Given the description of an element on the screen output the (x, y) to click on. 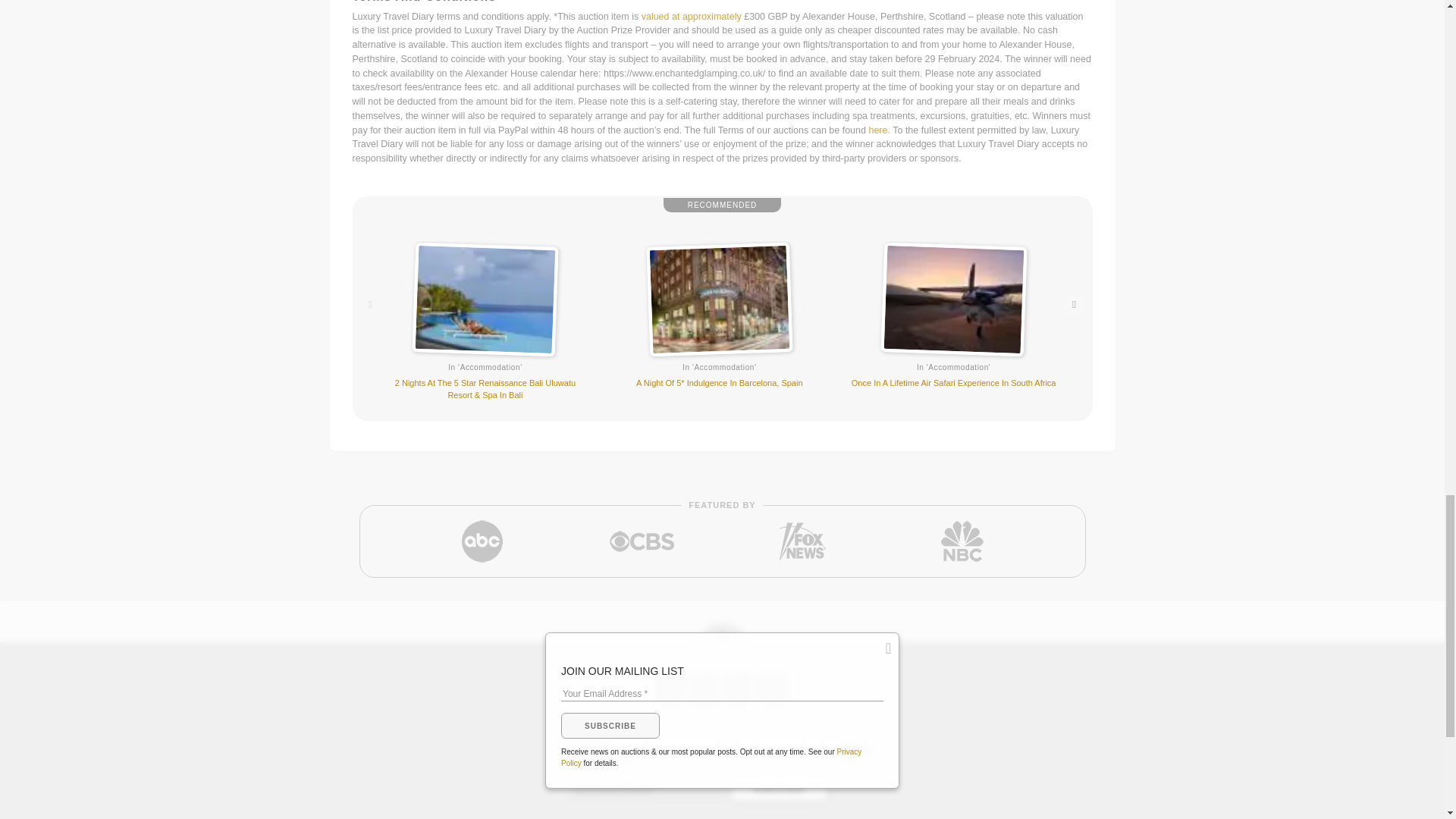
Subscribe (778, 788)
